Given the description of an element on the screen output the (x, y) to click on. 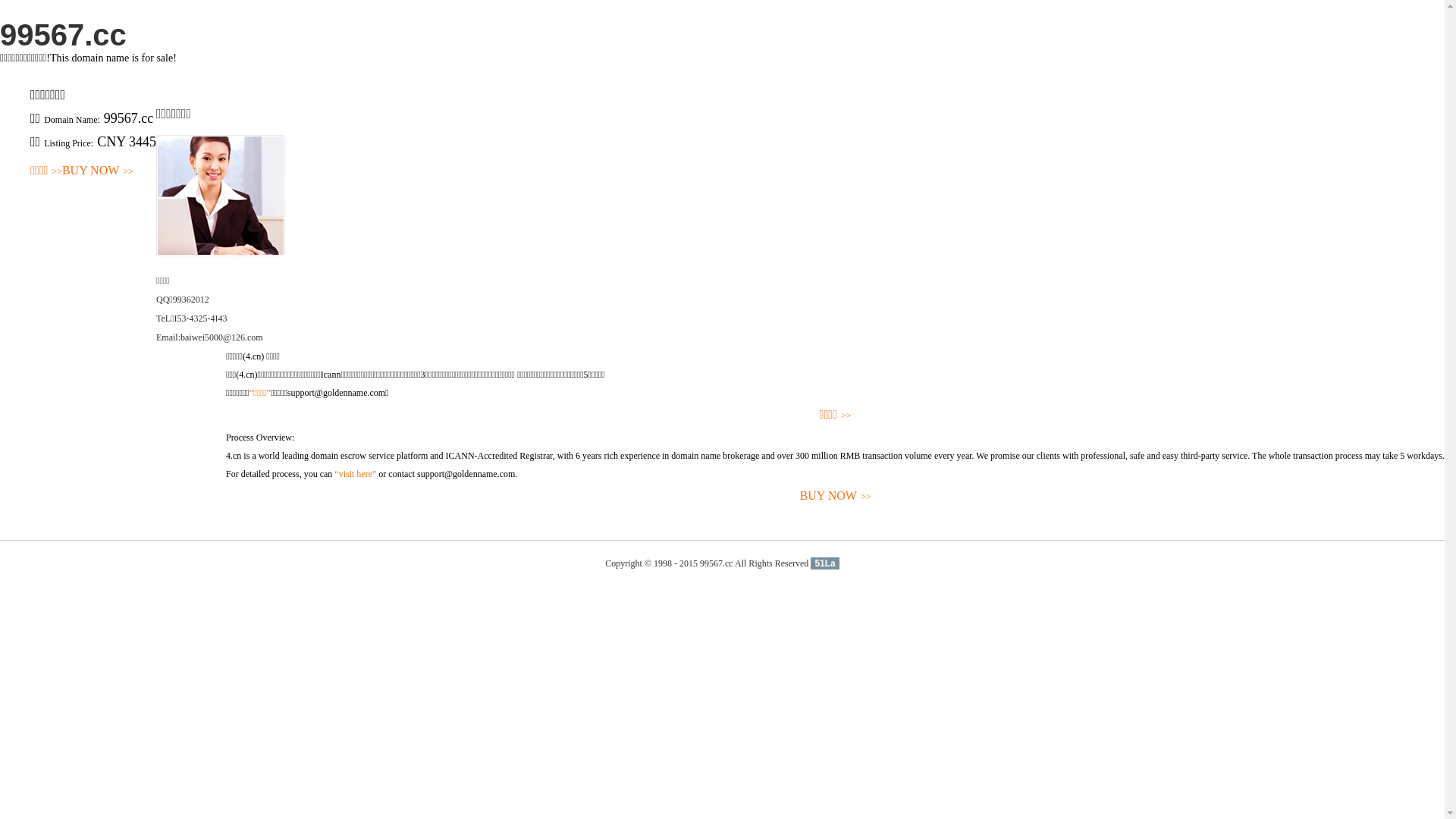
51La Element type: text (824, 563)
BUY NOW>> Element type: text (834, 496)
BUY NOW>> Element type: text (97, 170)
